Given the description of an element on the screen output the (x, y) to click on. 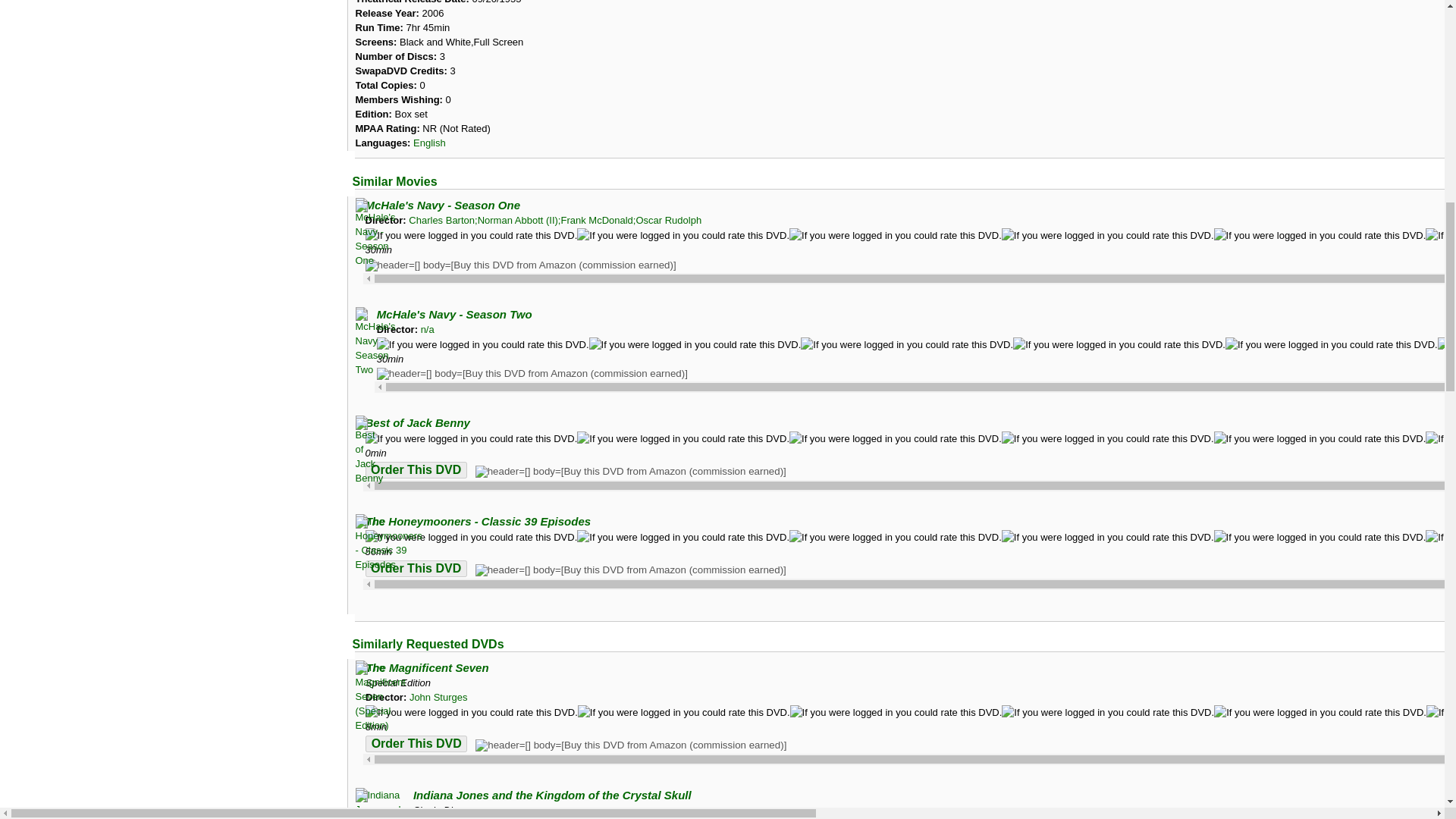
Buy from Amazon (532, 373)
Order This DVD (416, 743)
Buy from Amazon (631, 471)
Buy from Amazon (631, 745)
Order This DVD (416, 568)
Buy from Amazon (631, 570)
Buy from Amazon (521, 265)
Order This DVD (416, 469)
